Given the description of an element on the screen output the (x, y) to click on. 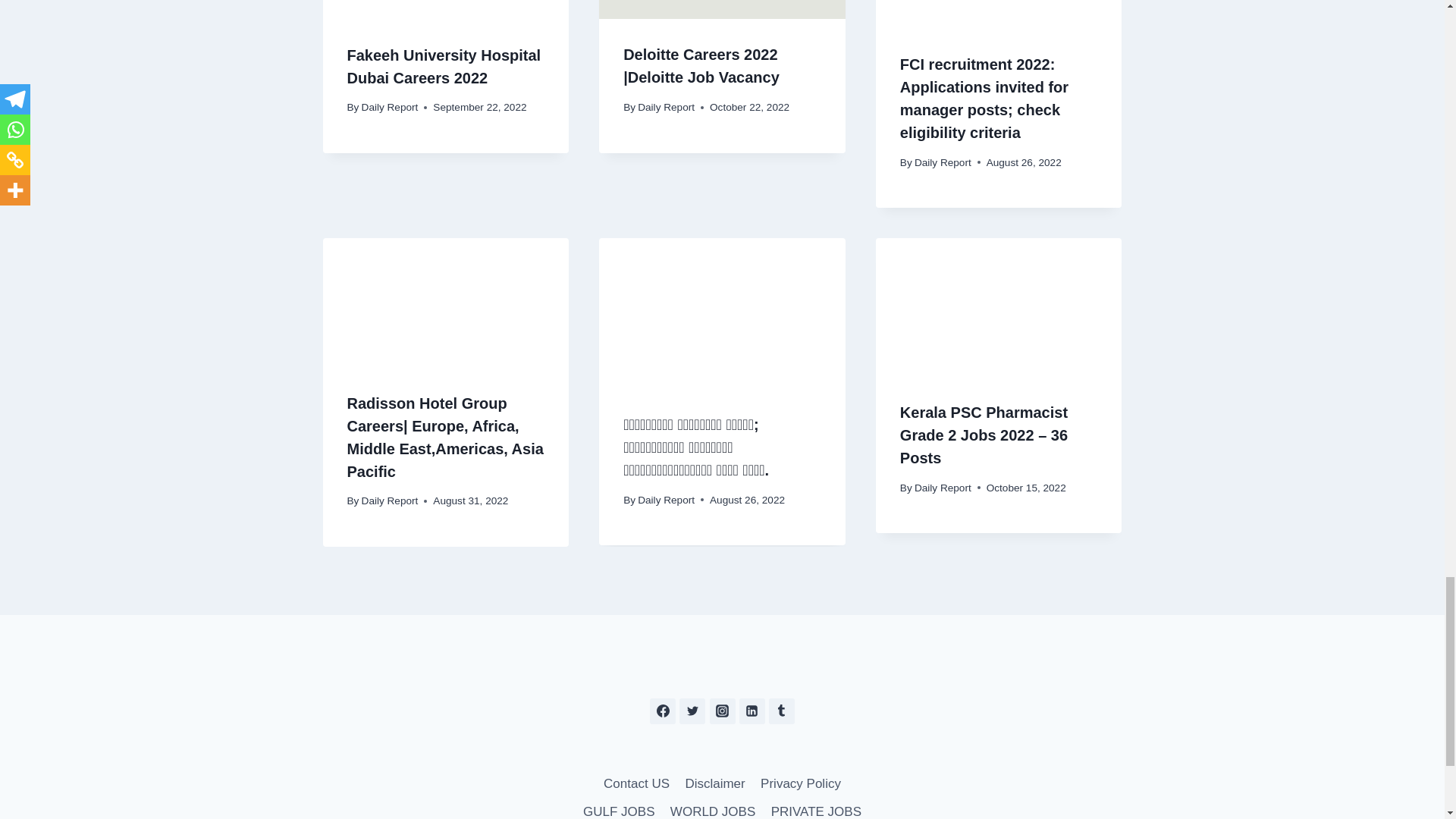
Daily Report (390, 107)
Fakeeh University Hospital Dubai Careers 2022 (444, 66)
